Given the description of an element on the screen output the (x, y) to click on. 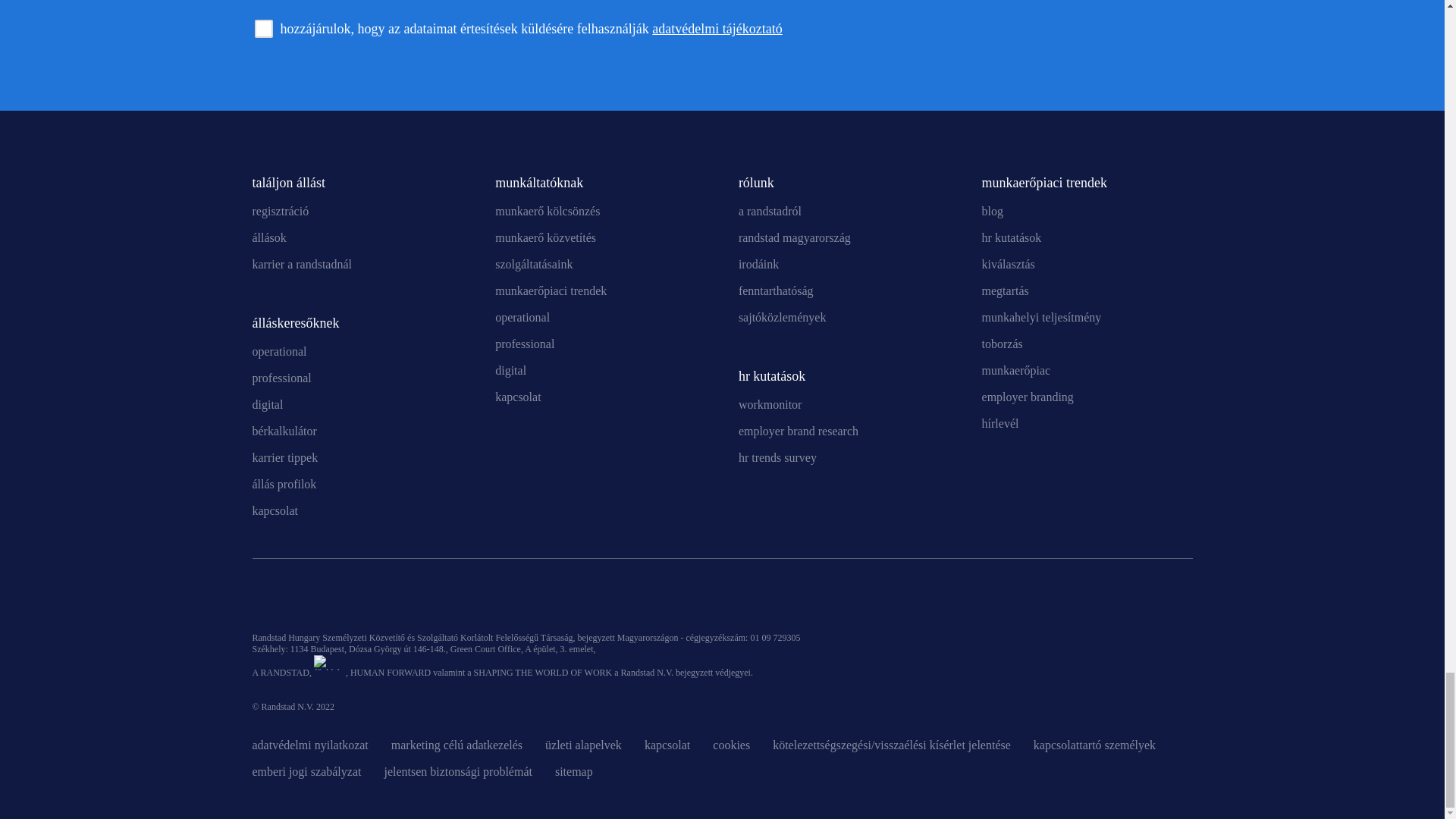
youtube (338, 599)
linkedin (263, 599)
instagram (376, 599)
facebook (301, 599)
